Given the description of an element on the screen output the (x, y) to click on. 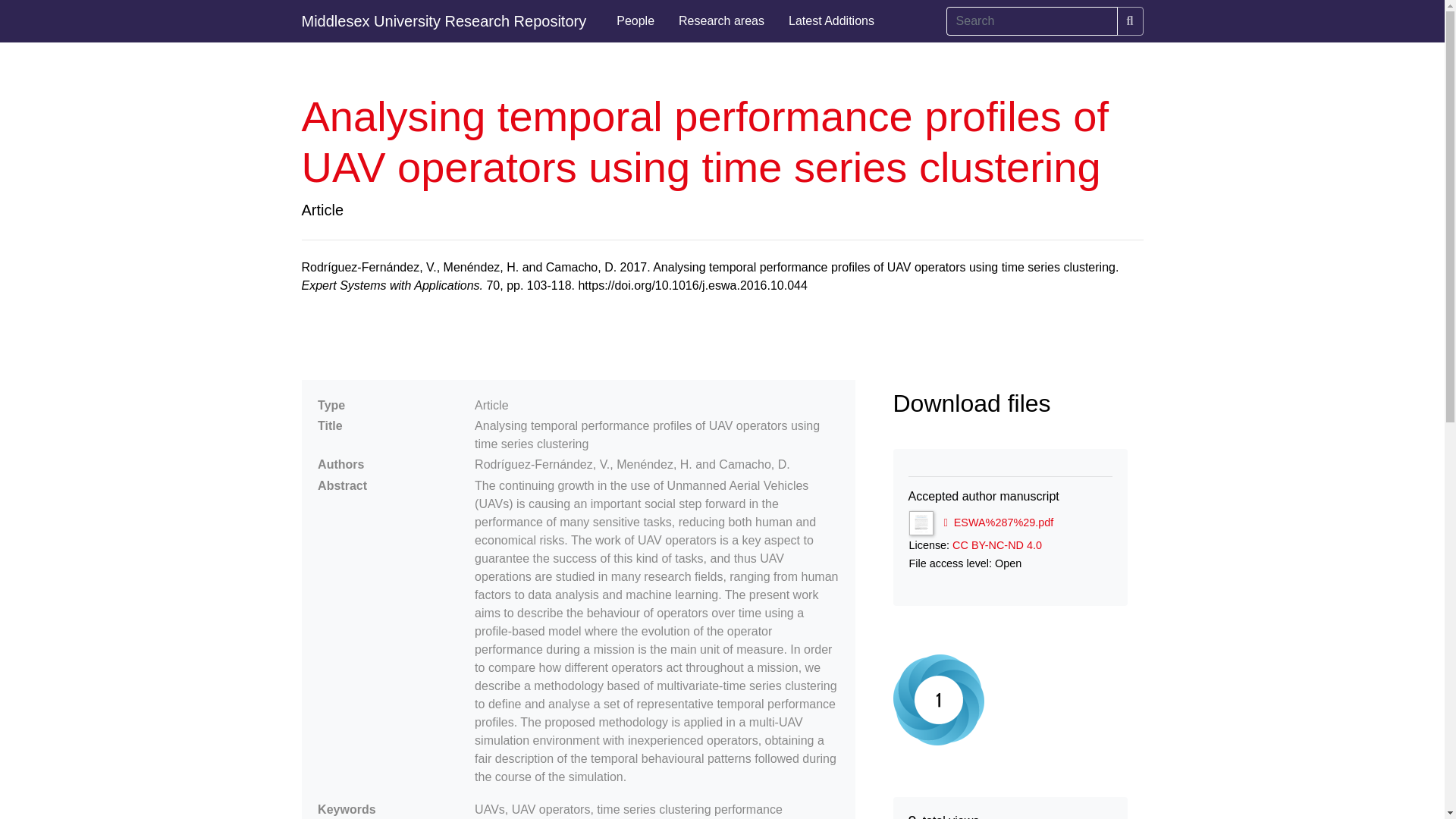
Research areas (721, 21)
CC BY-NC-ND 4.0 (997, 544)
Middlesex University Research Repository (443, 20)
Latest Additions (831, 21)
People (635, 21)
